Given the description of an element on the screen output the (x, y) to click on. 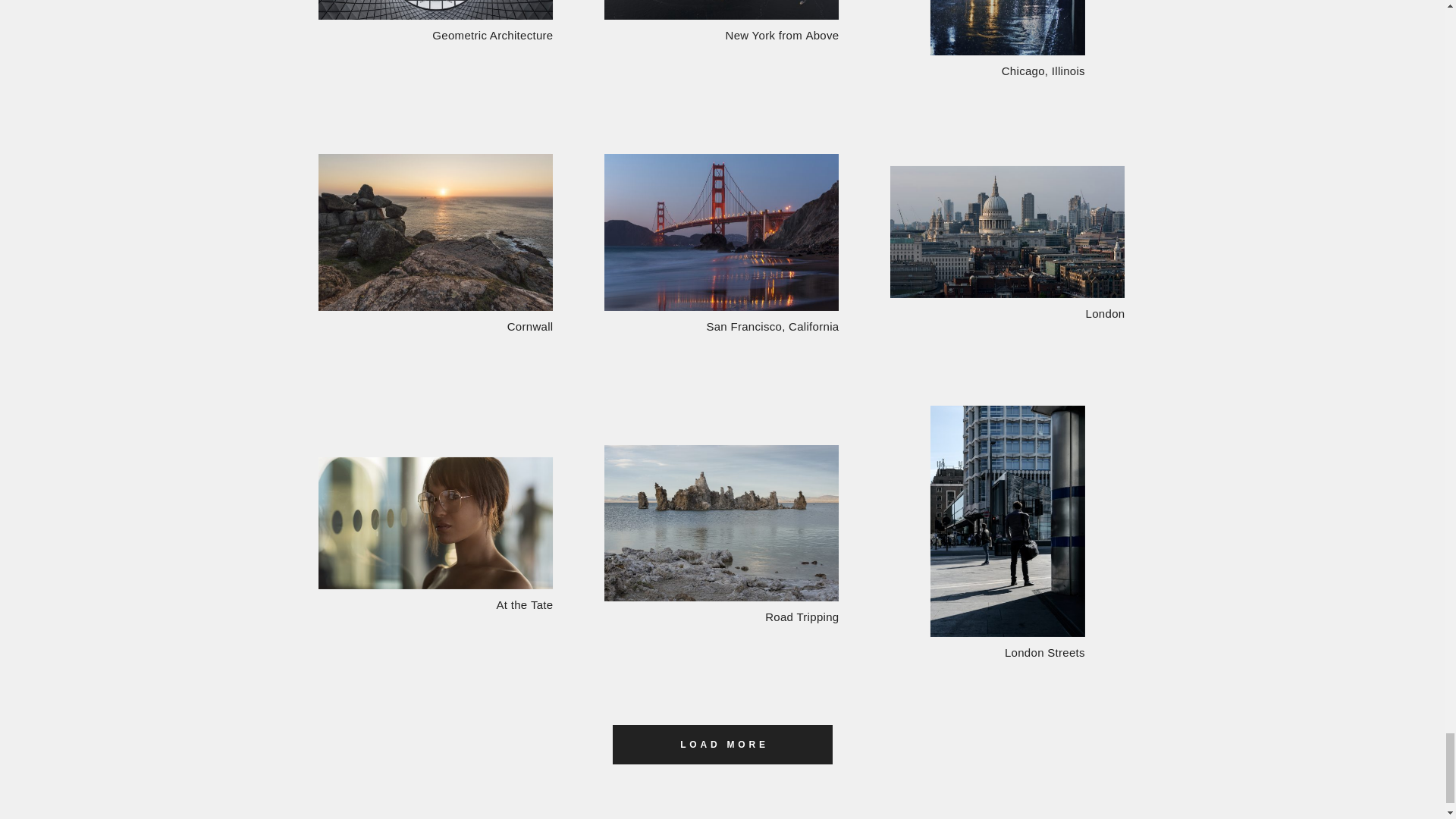
Cornwall (435, 243)
New York from Above (721, 22)
London (1006, 244)
San Francisco, California (721, 243)
Geometric Architecture (435, 22)
Road Tripping (721, 535)
At the Tate (435, 535)
Road Tripping (721, 535)
San Francisco, California (721, 243)
Chicago, Illinois (1007, 39)
